Given the description of an element on the screen output the (x, y) to click on. 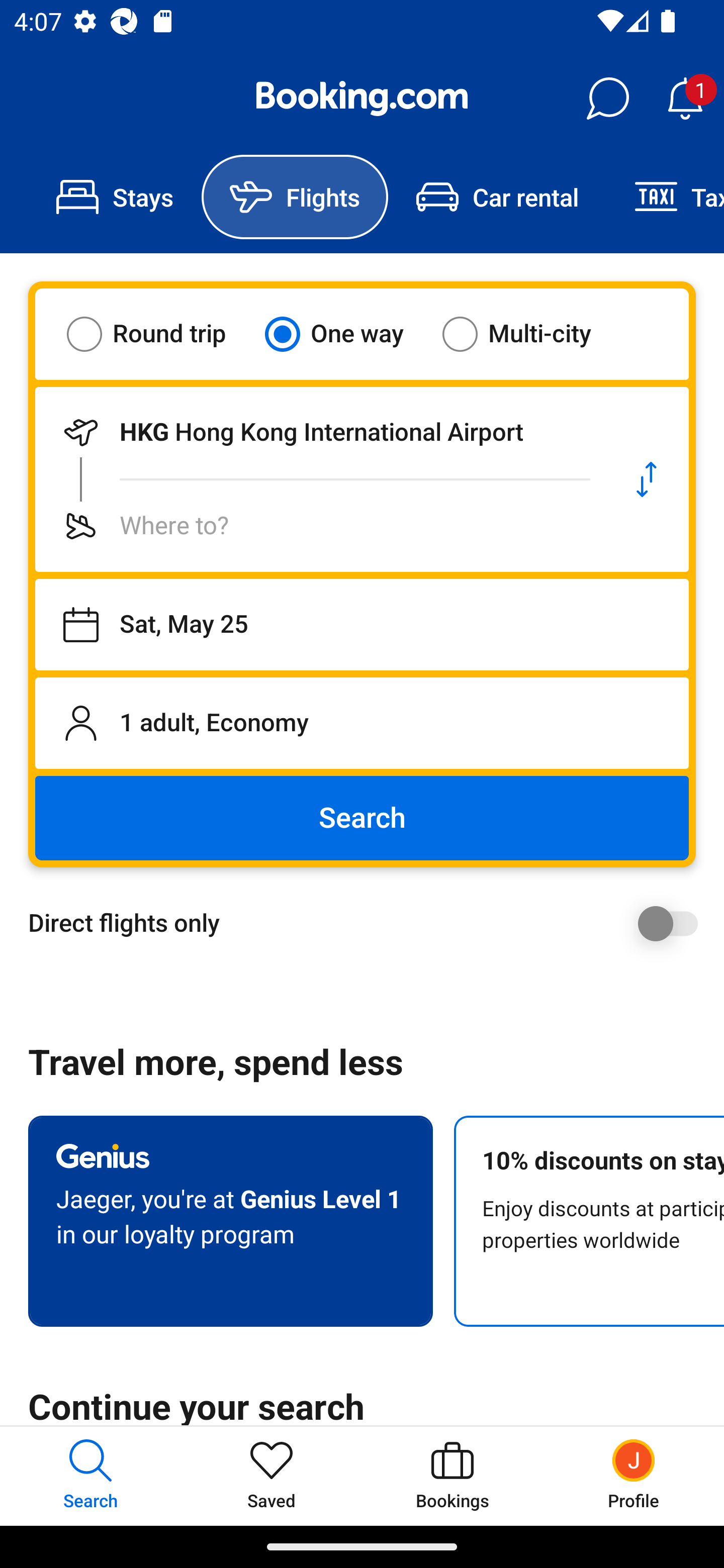
Messages (607, 98)
Notifications (685, 98)
Stays (114, 197)
Flights (294, 197)
Car rental (497, 197)
Taxi (665, 197)
Round trip (158, 333)
Multi-city (528, 333)
Departing from HKG Hong Kong International Airport (319, 432)
Swap departure location and destination (646, 479)
Flying to  (319, 525)
Departing on Sat, May 25 (361, 624)
1 adult, Economy (361, 722)
Search (361, 818)
Direct flights only (369, 923)
Saved (271, 1475)
Bookings (452, 1475)
Profile (633, 1475)
